Given the description of an element on the screen output the (x, y) to click on. 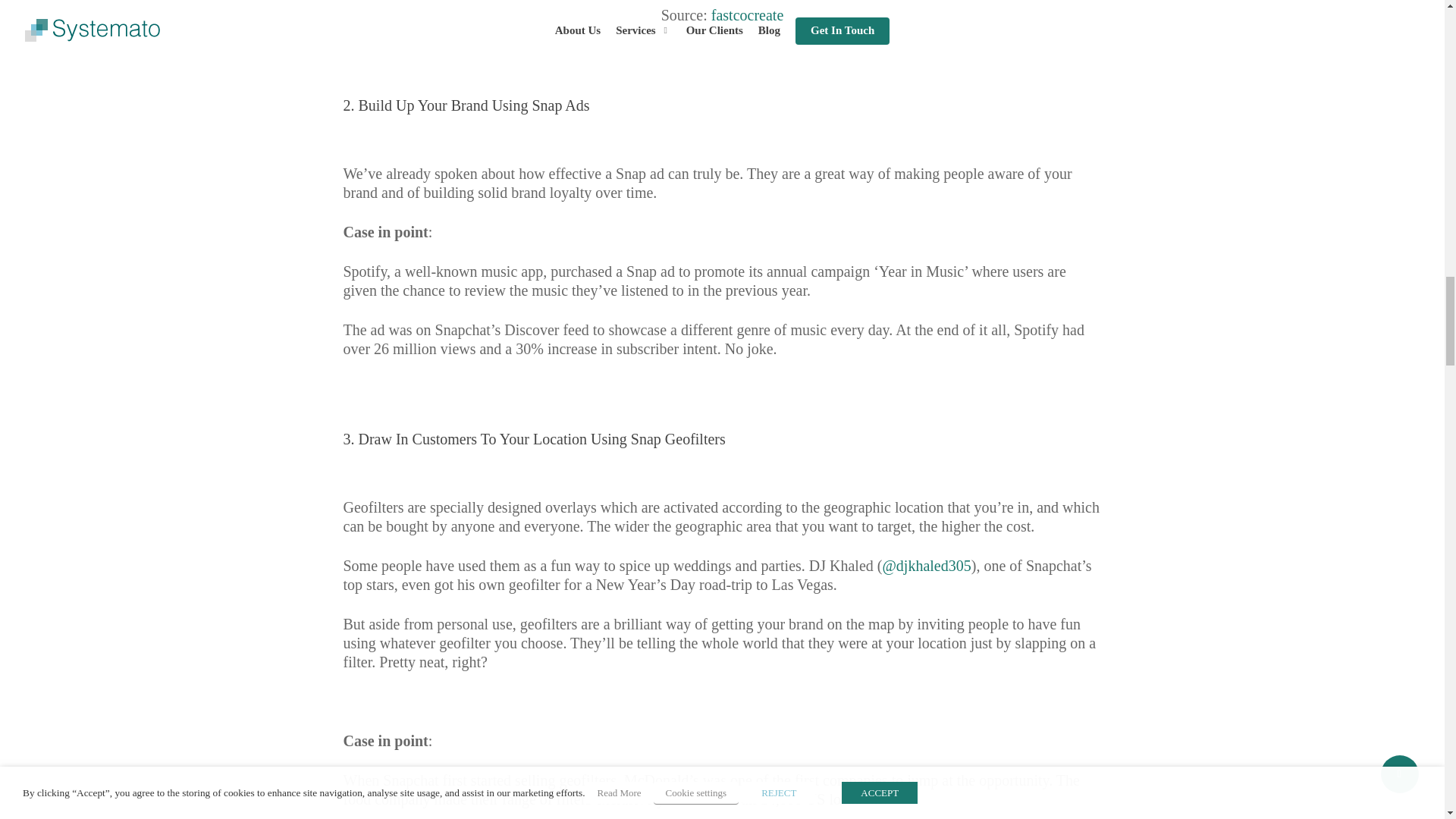
fastcocreate (747, 14)
